Given the description of an element on the screen output the (x, y) to click on. 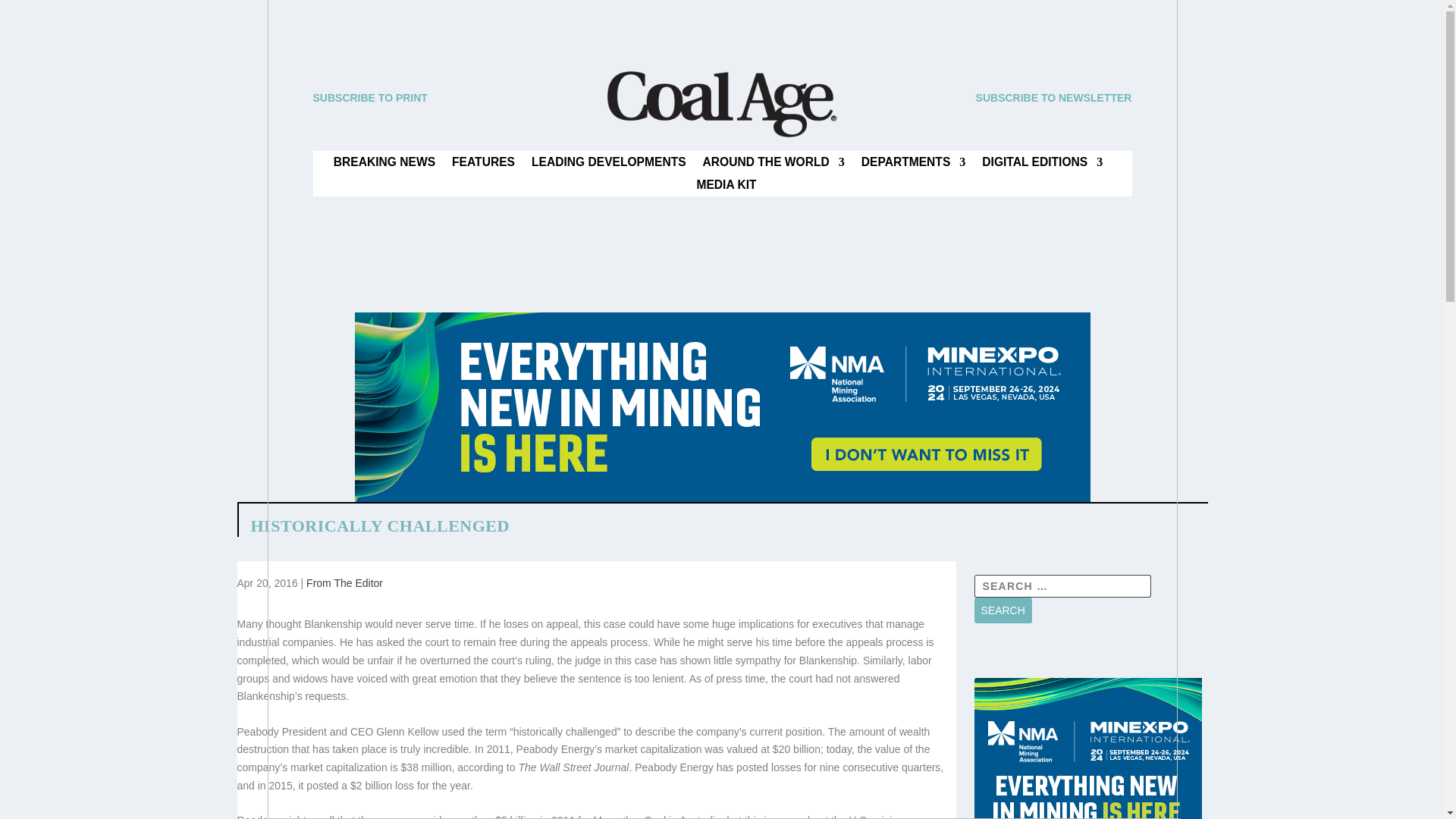
SUBSCRIBE TO PRINT (369, 97)
AROUND THE WORLD (773, 165)
Search (1002, 610)
DEPARTMENTS (913, 165)
LEADING DEVELOPMENTS (608, 165)
Search (1002, 610)
SUBSCRIBE TO NEWSLETTER (1053, 97)
BREAKING NEWS (384, 165)
Coal Age logo (721, 104)
FEATURES (483, 165)
